Given the description of an element on the screen output the (x, y) to click on. 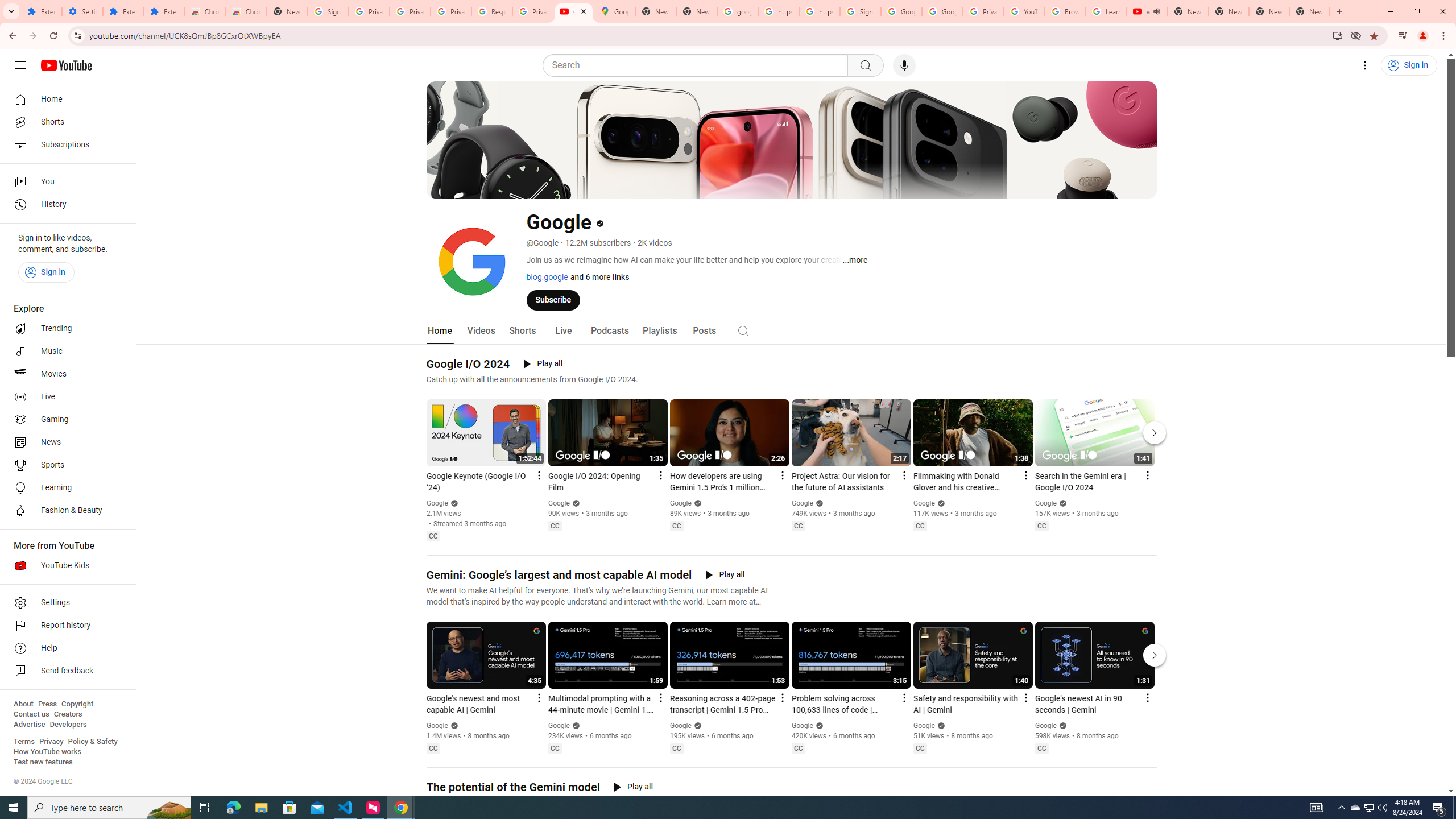
Podcasts (608, 330)
Closed captions (1041, 748)
Send feedback (64, 671)
Guide (20, 65)
Google - YouTube (573, 11)
Sign in - Google Accounts (327, 11)
Install YouTube (1336, 35)
Sports (64, 464)
blog.google (546, 276)
